Given the description of an element on the screen output the (x, y) to click on. 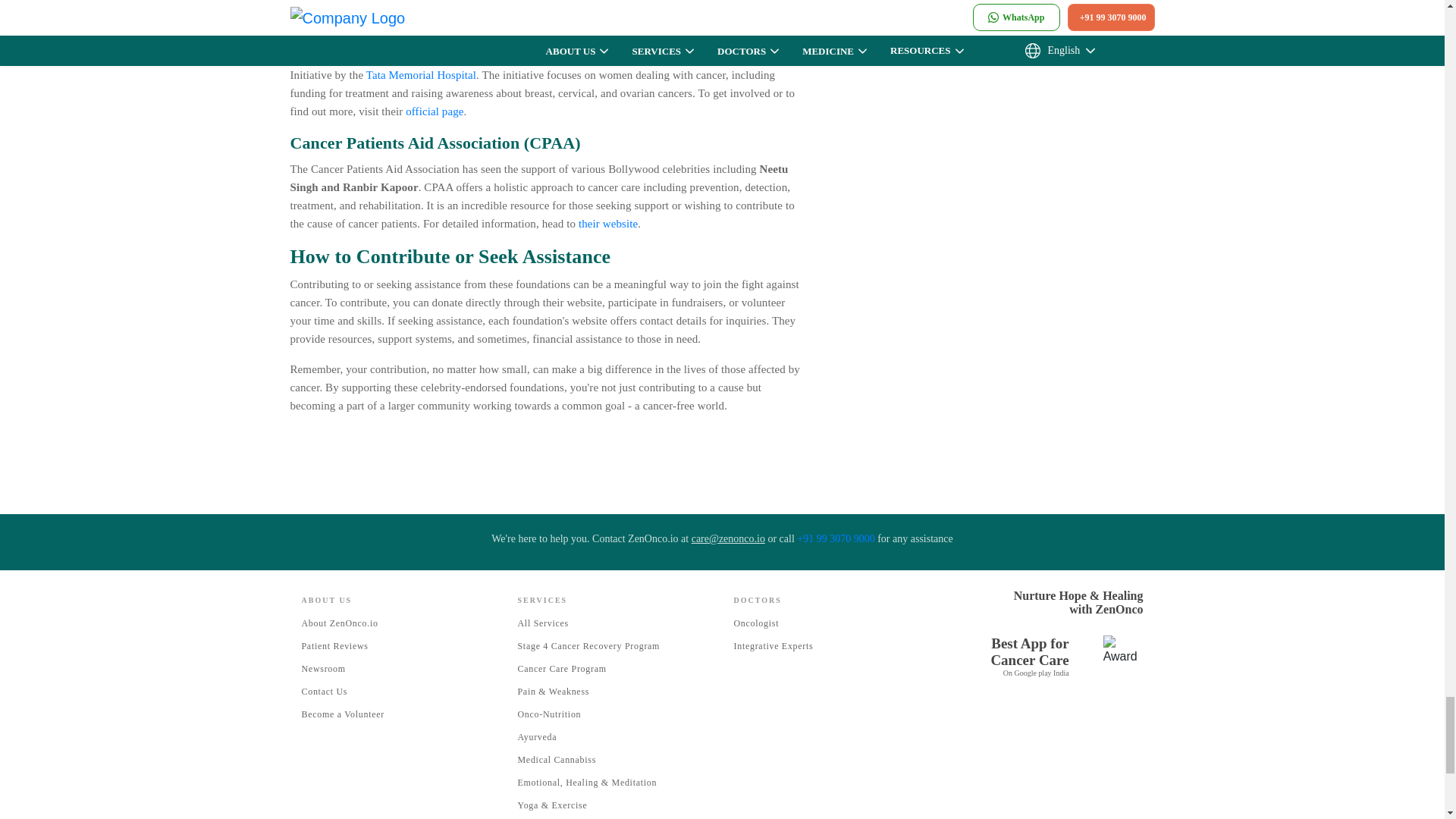
Patient Reviews (334, 645)
About  ZenOnco.io (339, 623)
Newsroom (323, 668)
